Given the description of an element on the screen output the (x, y) to click on. 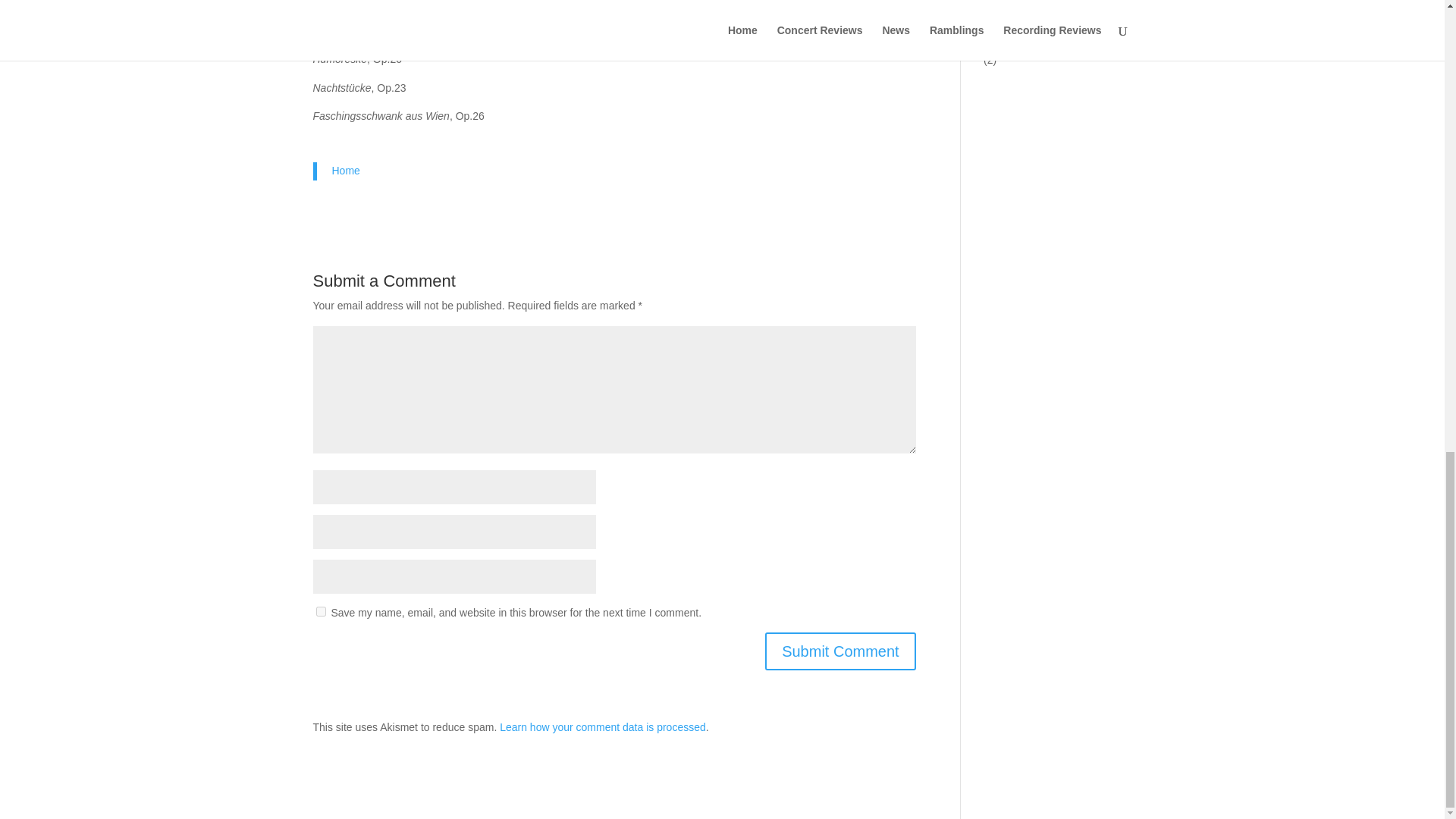
Submit Comment (840, 651)
Submit Comment (840, 651)
Home (345, 170)
Learn how your comment data is processed (602, 727)
yes (319, 611)
